Given the description of an element on the screen output the (x, y) to click on. 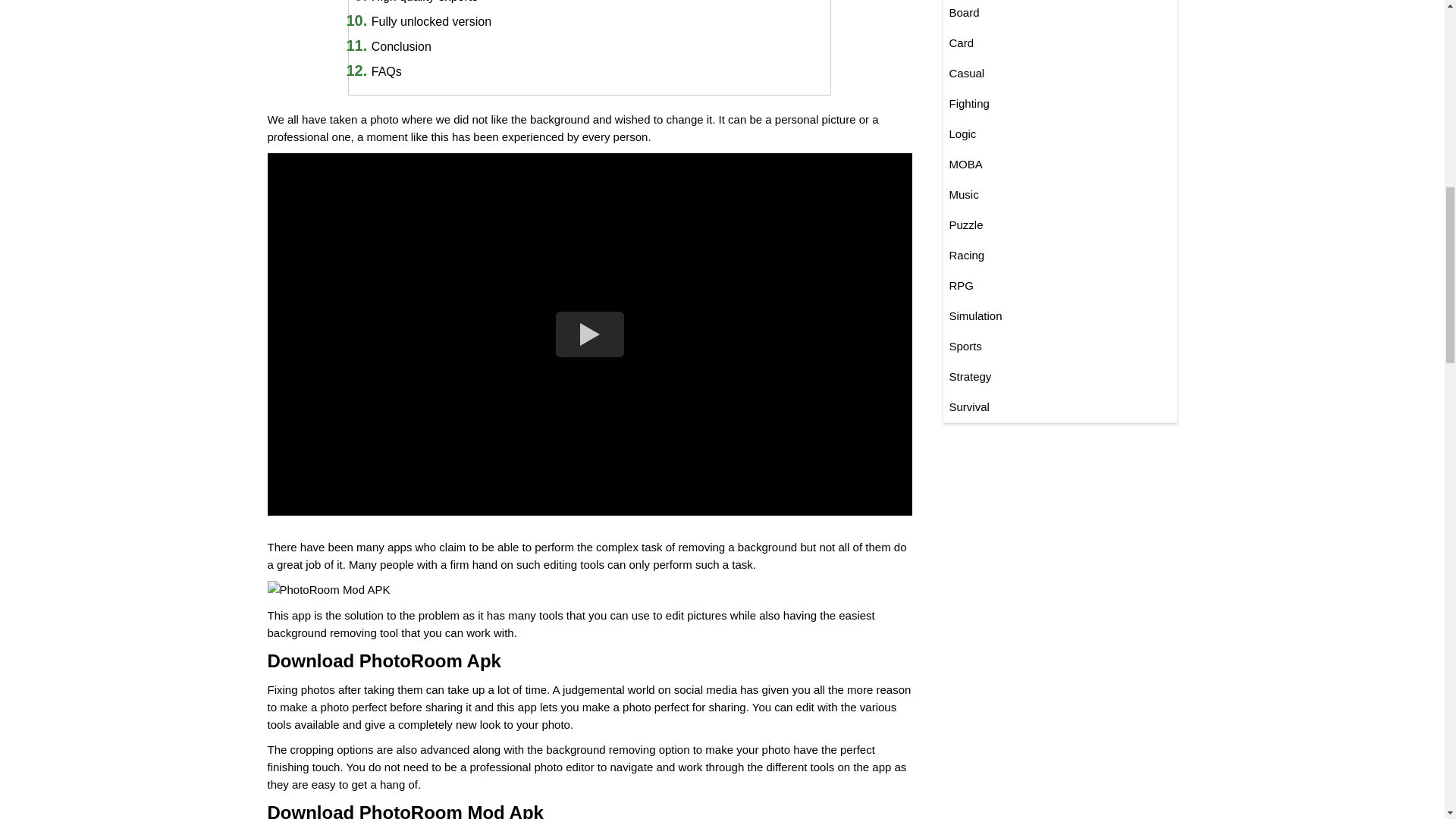
Fully unlocked version (431, 21)
Conclusion (400, 46)
High quality exports (425, 1)
FAQs (386, 71)
